Given the description of an element on the screen output the (x, y) to click on. 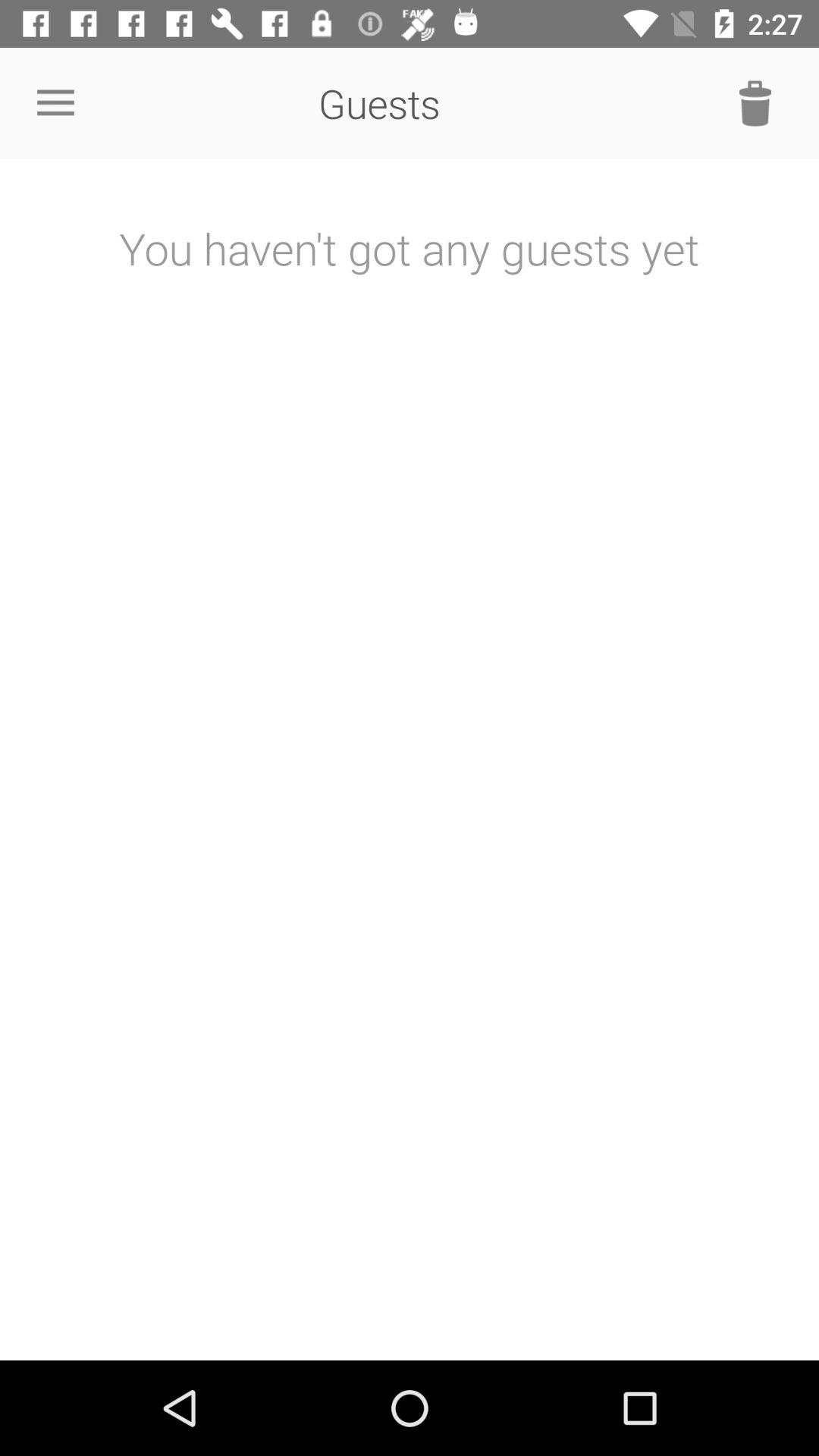
select icon at the top left corner (55, 103)
